Given the description of an element on the screen output the (x, y) to click on. 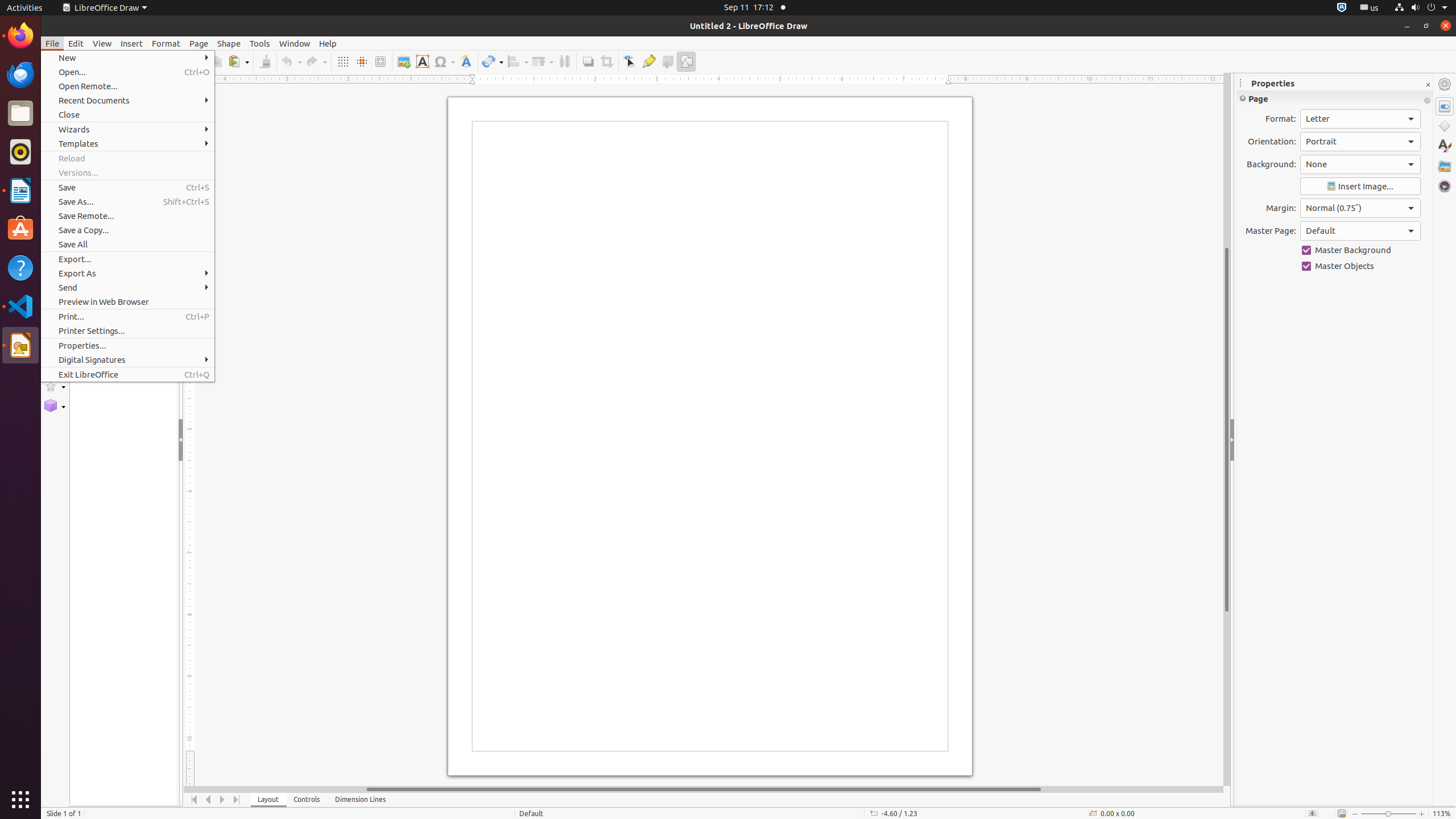
View Element type: menu (102, 43)
Insert Element type: menu (131, 43)
Versions... Element type: menu-item (127, 172)
